Given the description of an element on the screen output the (x, y) to click on. 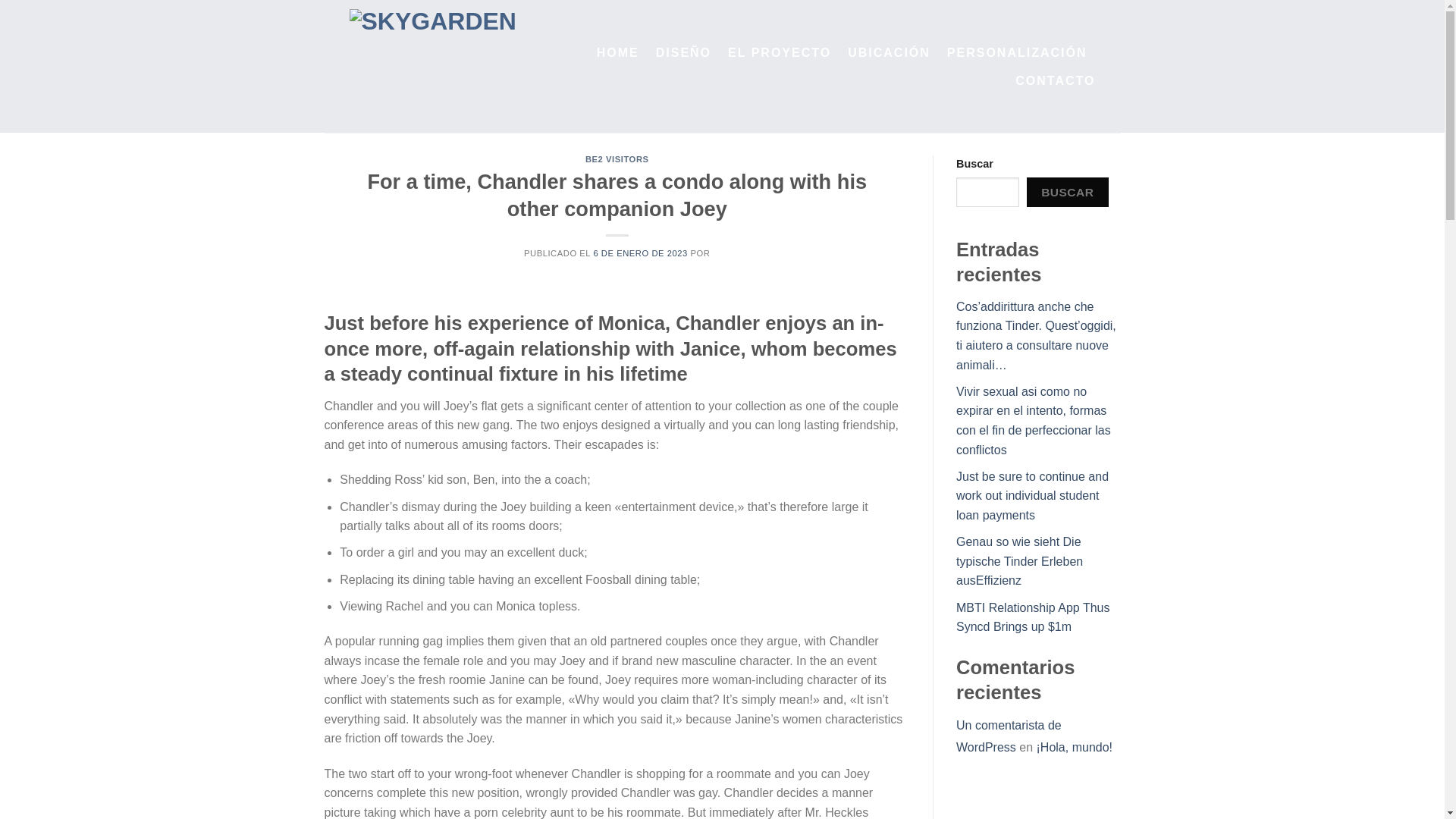
HOME (617, 52)
BE2 VISITORS (617, 158)
EL PROYECTO (779, 52)
6 DE ENERO DE 2023 (639, 252)
Genau so wie sieht Die typische Tinder Erleben ausEffizienz (1019, 561)
BUSCAR (1067, 192)
Un comentarista de WordPress (1008, 736)
CONTACTO (1054, 80)
